Given the description of an element on the screen output the (x, y) to click on. 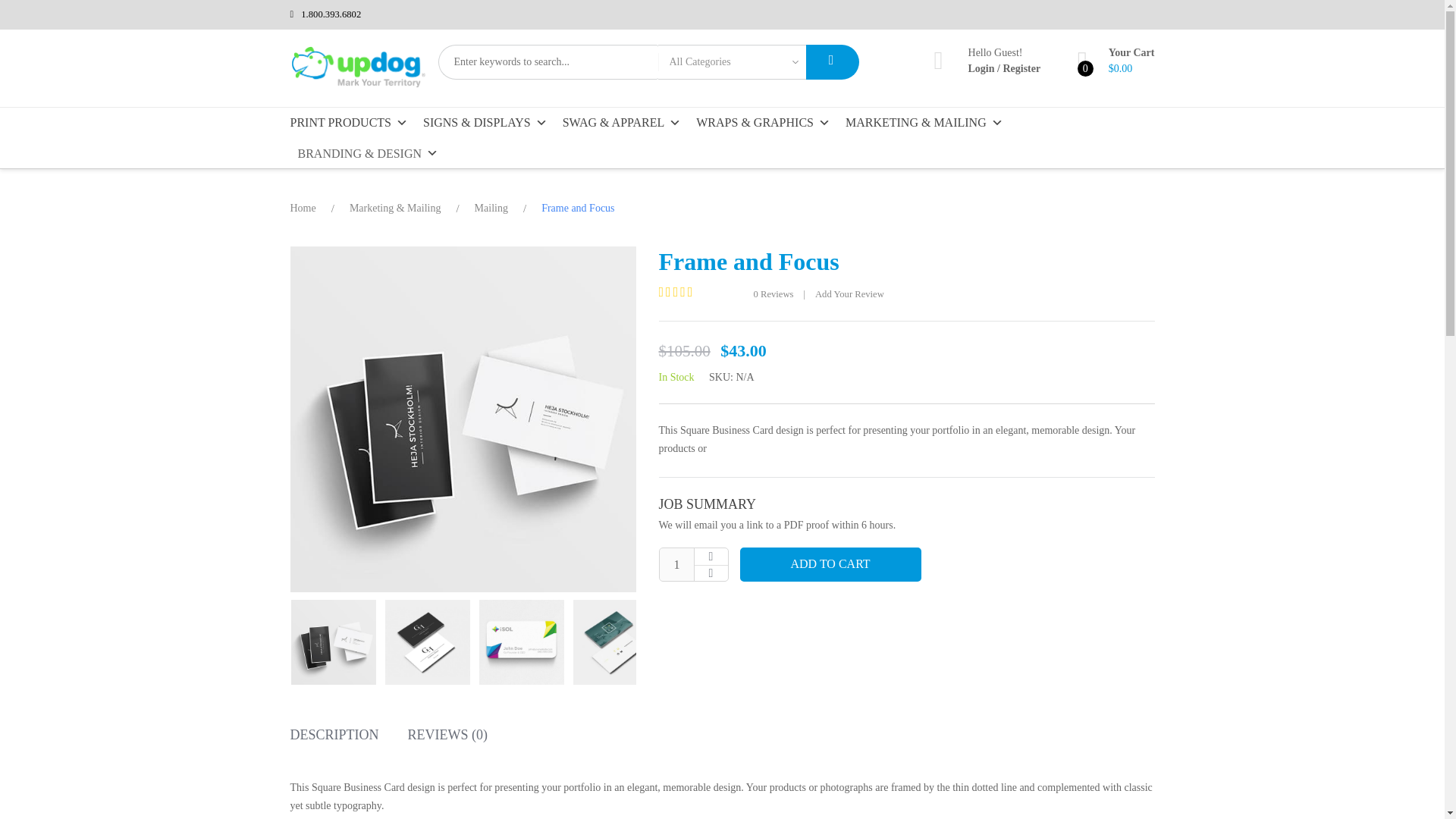
Register (1022, 68)
1 (676, 563)
PRINT PRODUCTS (351, 122)
Login (981, 68)
Register (1022, 68)
Qty (676, 563)
Login (981, 68)
Mark Your Territory! (357, 83)
Search (832, 62)
